Given the description of an element on the screen output the (x, y) to click on. 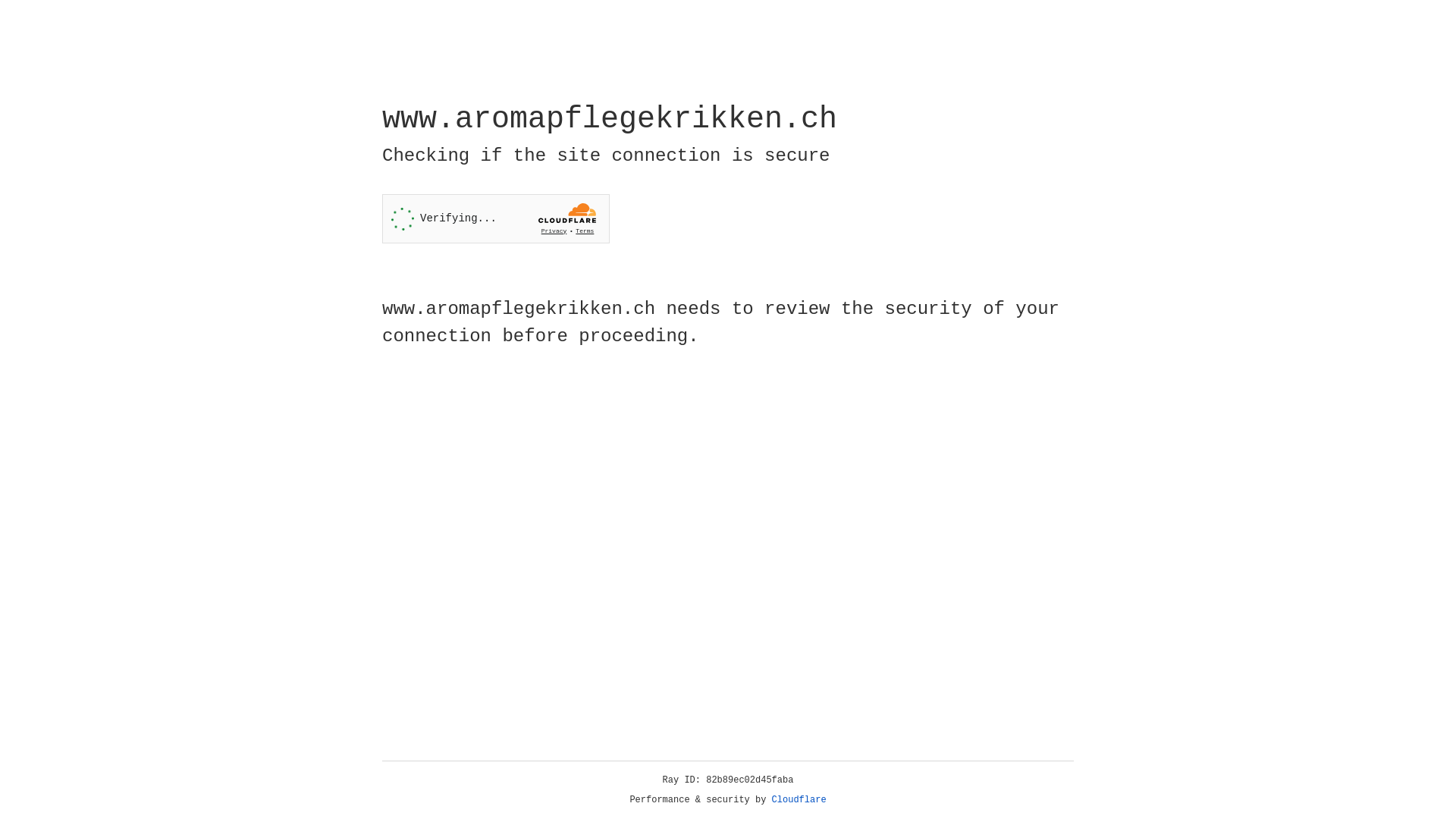
Widget containing a Cloudflare security challenge Element type: hover (495, 218)
Cloudflare Element type: text (798, 799)
